Given the description of an element on the screen output the (x, y) to click on. 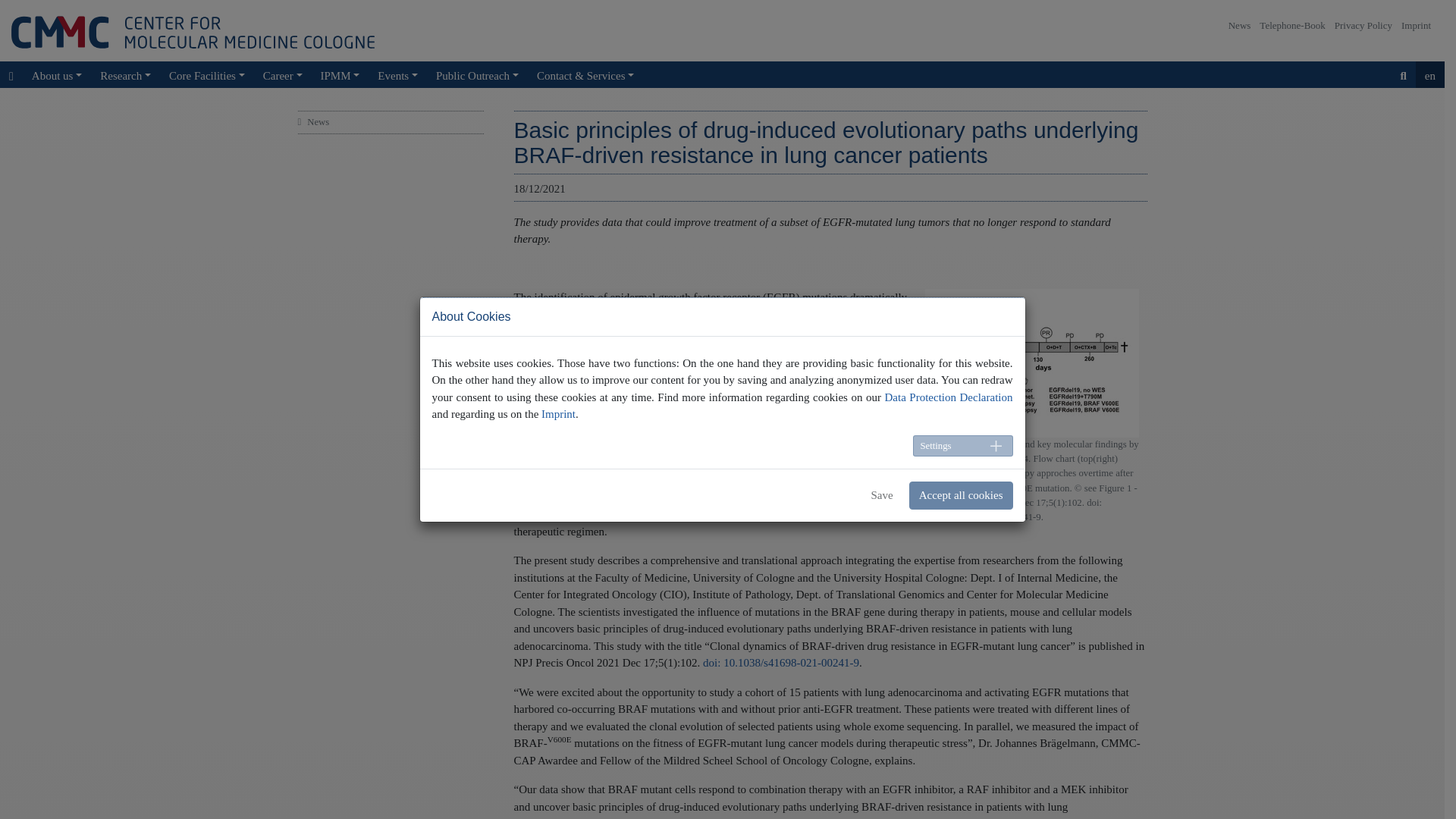
Research (125, 74)
Imprint (1419, 38)
About us (56, 74)
Core Facilities (206, 74)
Telephone-Book (1296, 38)
Privacy Policy (1367, 38)
